Given the description of an element on the screen output the (x, y) to click on. 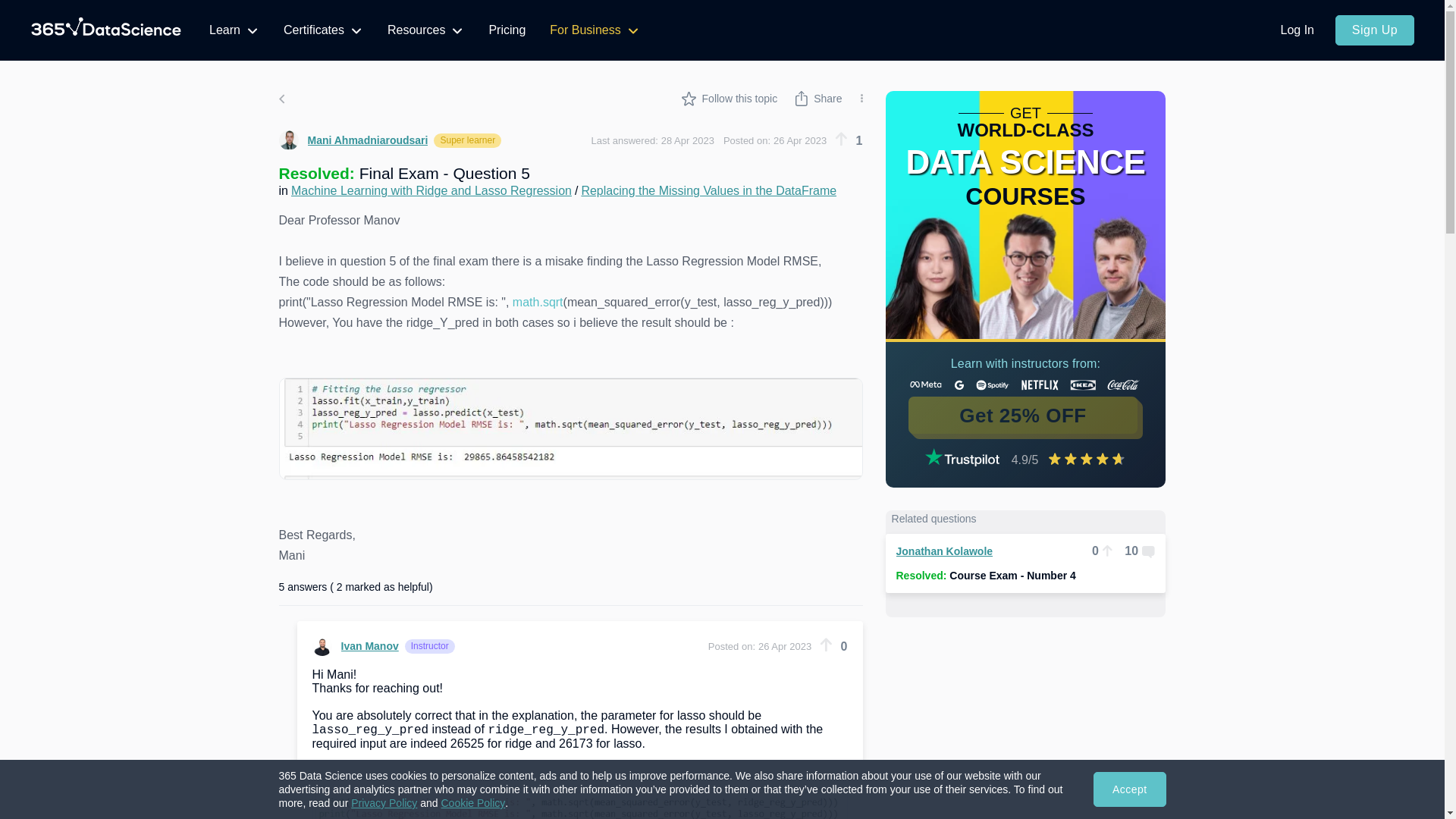
Log In (1296, 29)
Pricing (506, 29)
365 Data Science (106, 30)
Sign Up (1374, 30)
Ivan Manov (355, 646)
Replacing the Missing Values in the DataFrame (707, 191)
Machine Learning with Ridge and Lasso Regression (431, 191)
Mani Ahmadniaroudsari (353, 139)
Pricing (506, 29)
math.sqrt (537, 301)
